Given the description of an element on the screen output the (x, y) to click on. 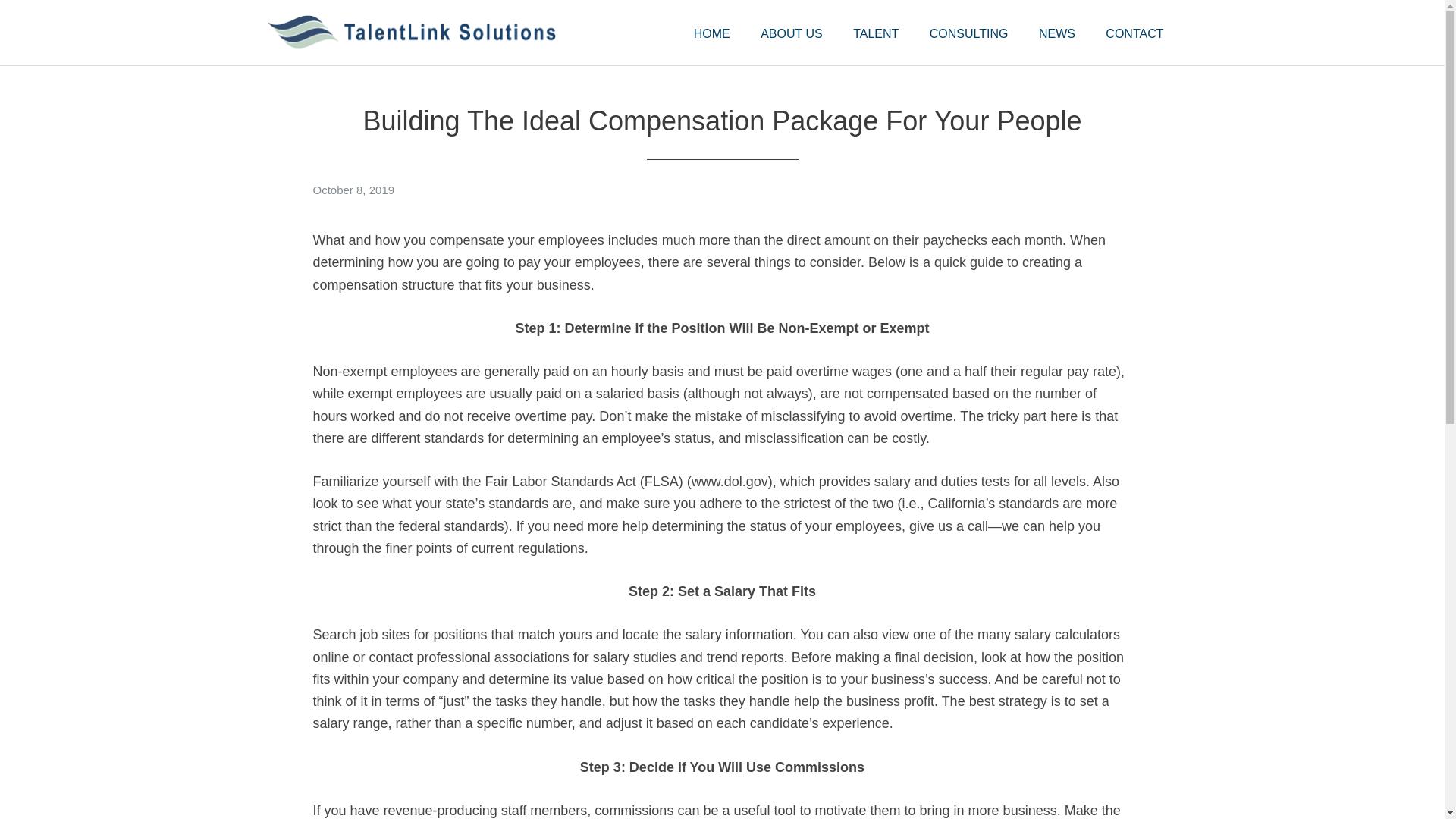
ABOUT US (790, 34)
TALENT (876, 34)
NEWS (1057, 34)
CONSULTING (968, 34)
CONTACT (1134, 34)
HOME (711, 34)
